Given the description of an element on the screen output the (x, y) to click on. 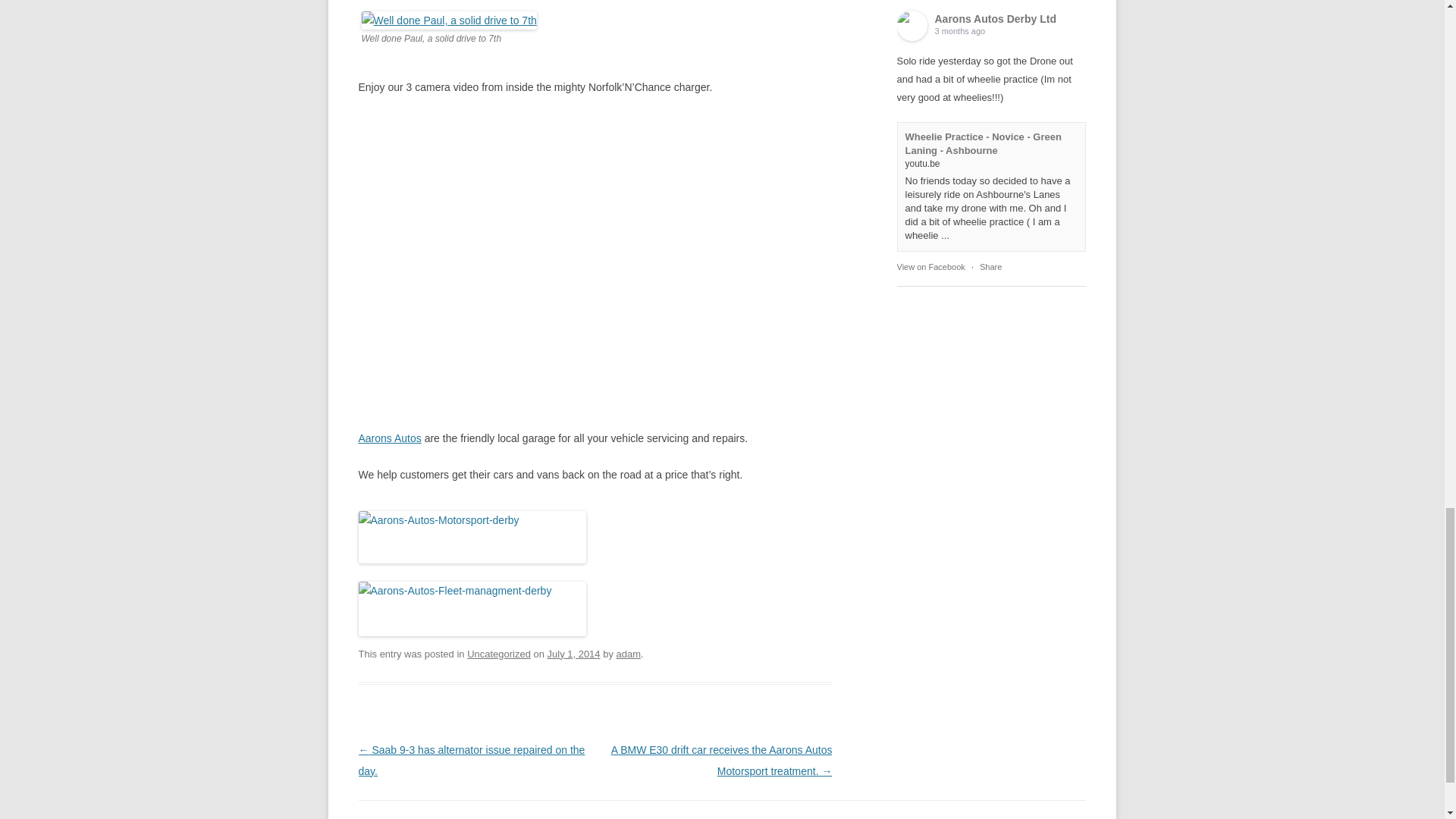
Aarons Autos Derby Ltd (911, 25)
View all posts by adam (627, 654)
12:46 pm (573, 654)
View on Facebook (929, 266)
Share (990, 266)
